Given the description of an element on the screen output the (x, y) to click on. 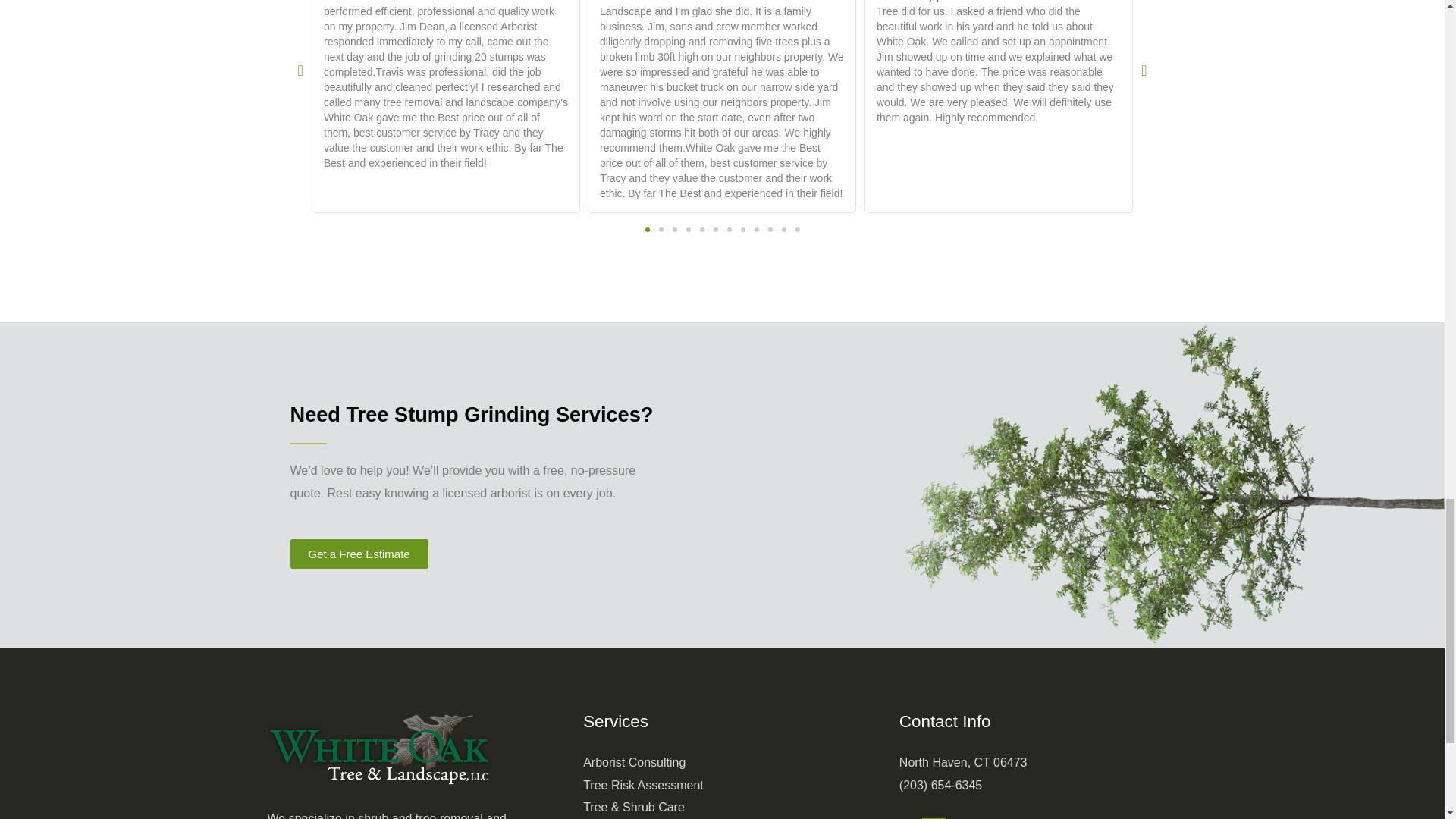
Arborist Consulting (634, 762)
Get a Free Estimate (358, 553)
